Given the description of an element on the screen output the (x, y) to click on. 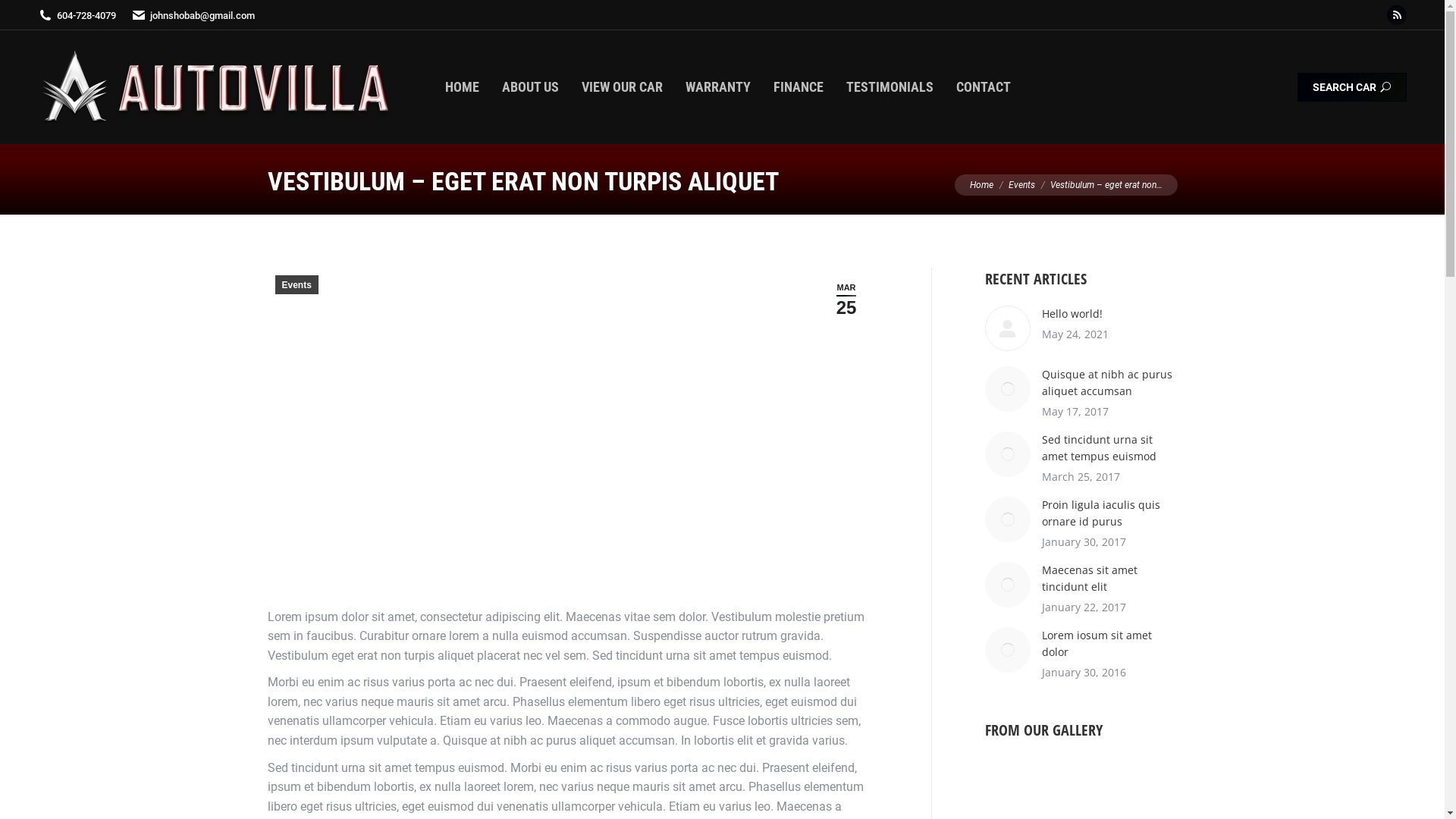
TESTIMONIALS Element type: text (889, 87)
HOME Element type: text (462, 87)
Sed tincidunt urna sit amet tempus euismod Element type: text (1109, 447)
Lorem iosum sit amet dolor Element type: text (1109, 643)
Post Comment Element type: text (64, 15)
MAR
25 Element type: text (845, 299)
Quisque at nibh ac purus aliquet accumsan Element type: text (1109, 382)
Hello world! Element type: text (1071, 313)
johnshobab@gmail.com Element type: text (192, 14)
ABOUT US Element type: text (530, 87)
CONTACT Element type: text (983, 87)
Proin ligula iaculis quis ornare id purus Element type: text (1109, 513)
WARRANTY Element type: text (717, 87)
VIEW OUR CAR Element type: text (621, 87)
FINANCE Element type: text (798, 87)
Events Element type: text (295, 284)
Events Element type: text (1021, 184)
Home Element type: text (980, 184)
SEARCH CAR Element type: text (1351, 86)
Maecenas sit amet tincidunt elit Element type: text (1109, 578)
Rss page opens in new window Element type: text (1396, 15)
